Given the description of an element on the screen output the (x, y) to click on. 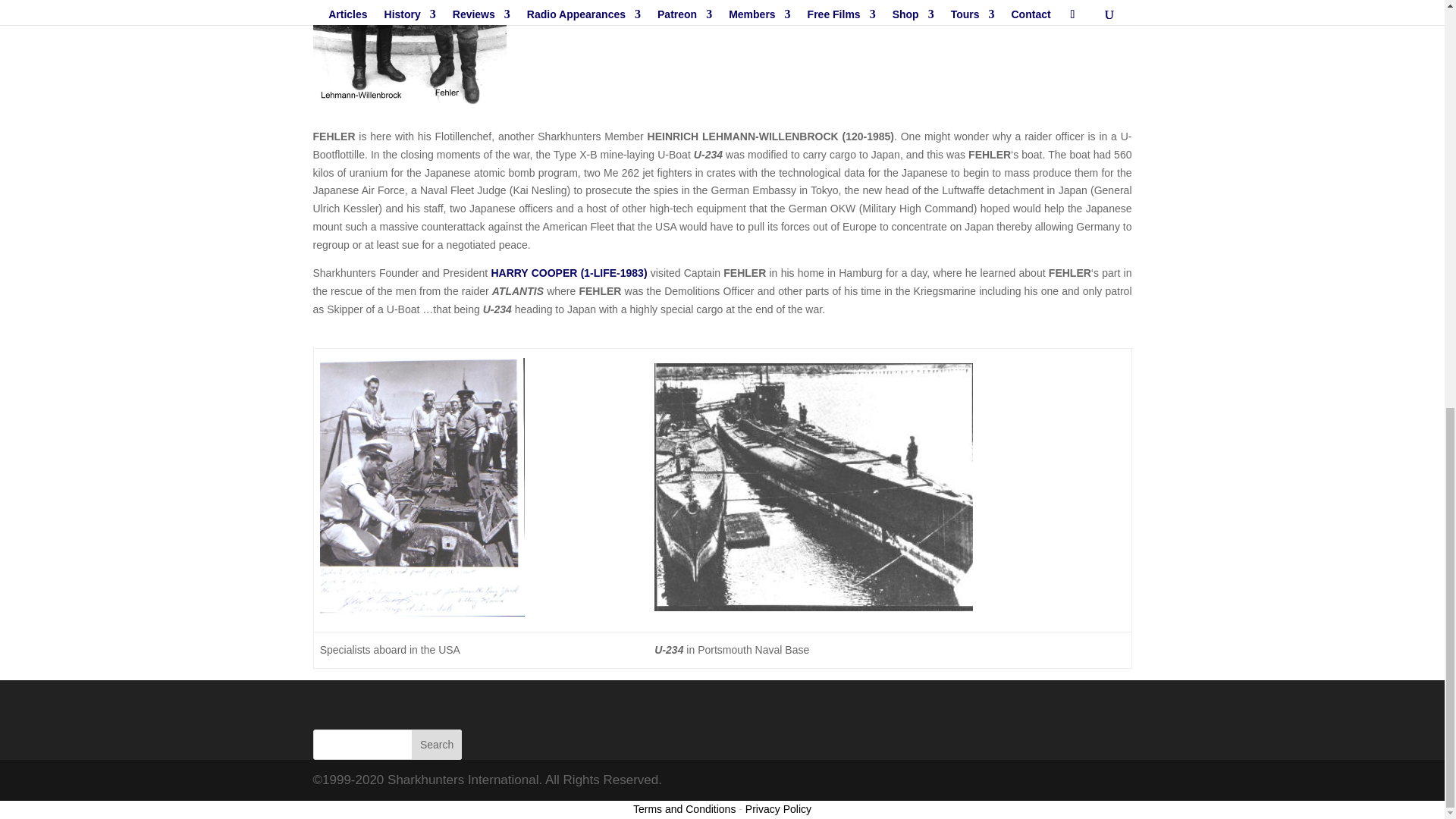
Search (436, 744)
